Given the description of an element on the screen output the (x, y) to click on. 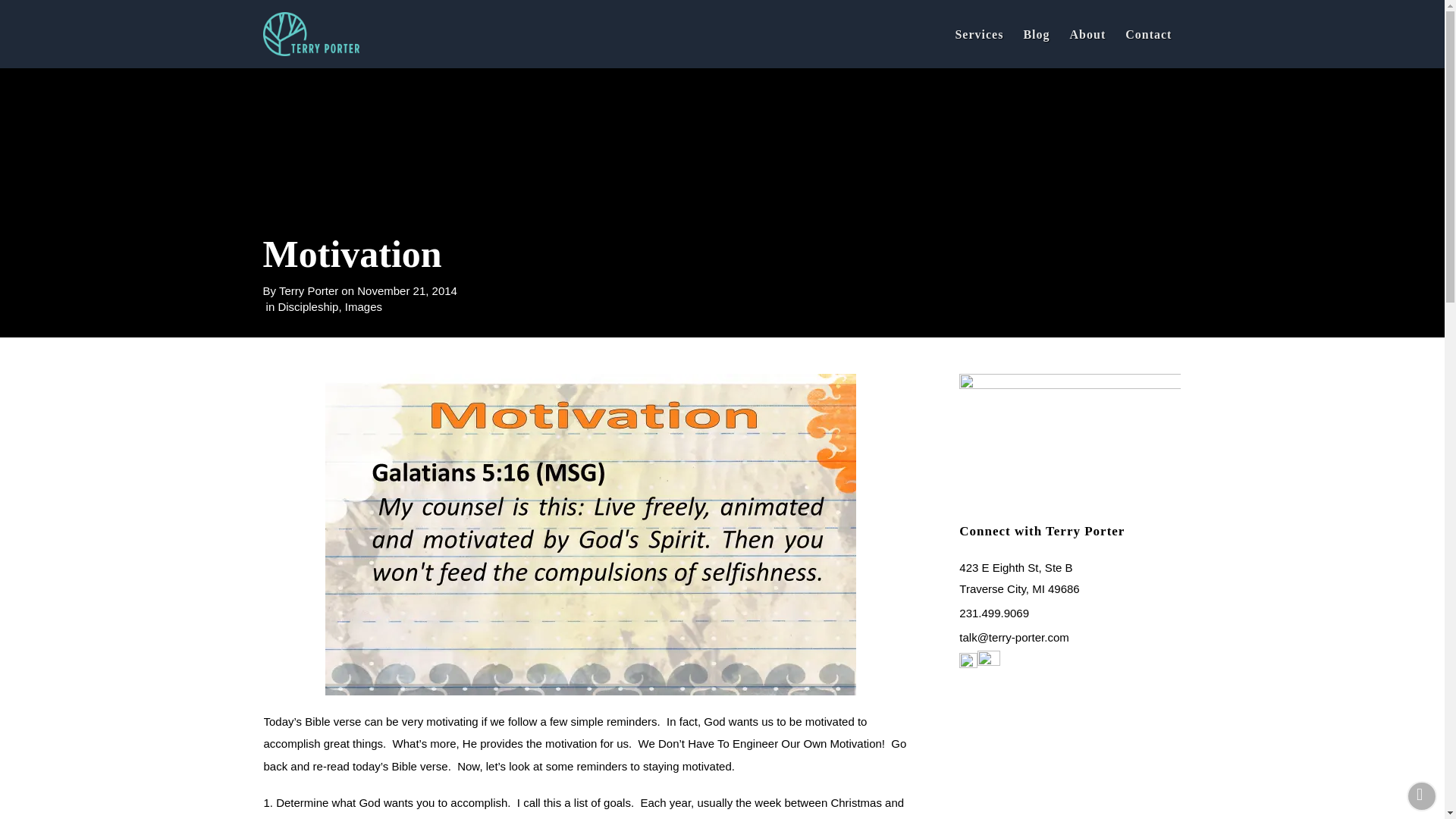
Contact (1147, 33)
Discipleship (307, 306)
231.499.9069 (994, 612)
Images (363, 306)
Terry Porter (308, 290)
Services (978, 33)
